Given the description of an element on the screen output the (x, y) to click on. 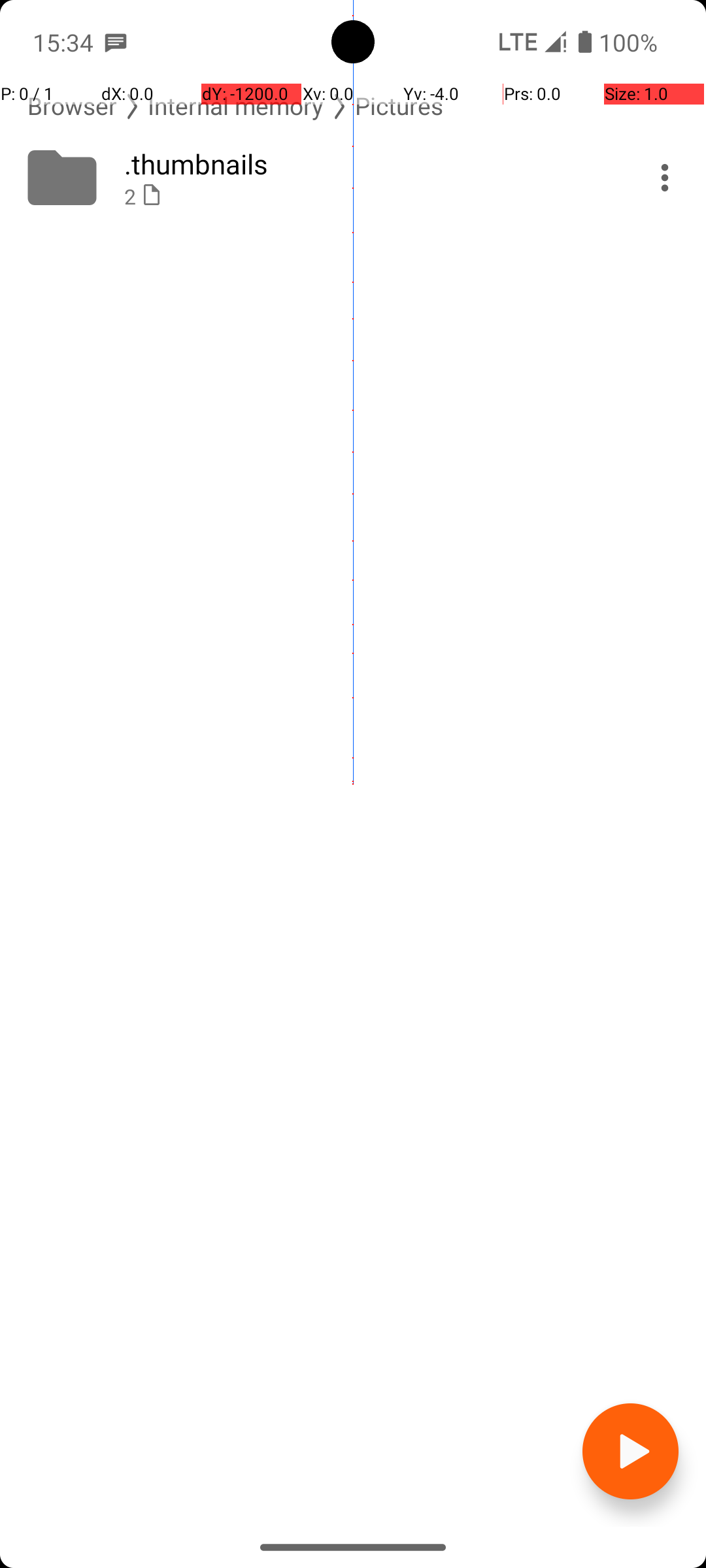
Folder: .thumbnails, 2 media files Element type: android.view.ViewGroup (353, 177)
.thumbnails Element type: android.widget.TextView (366, 163)
2 *§* Element type: android.widget.TextView (366, 196)
